Given the description of an element on the screen output the (x, y) to click on. 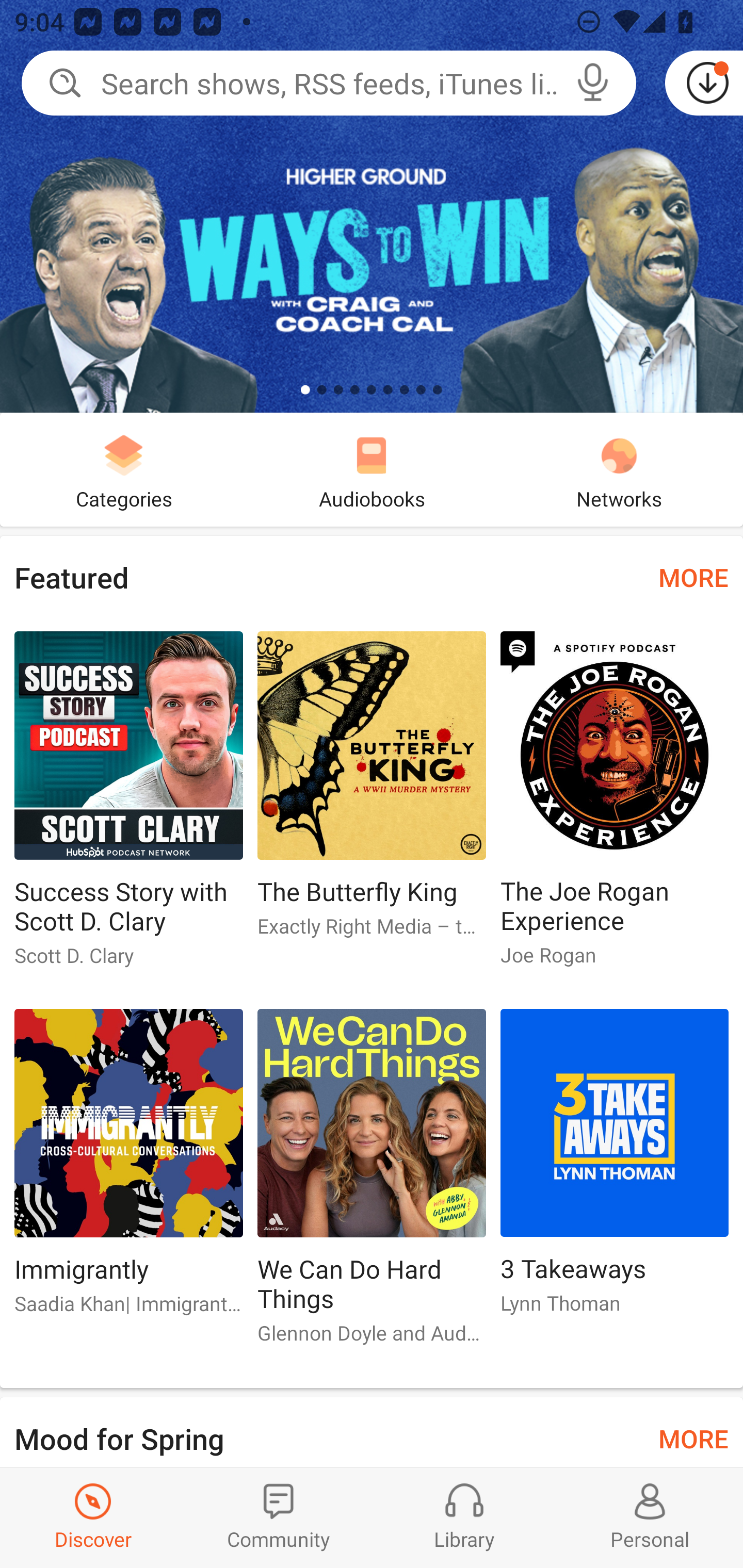
Ways To Win (371, 206)
Categories (123, 469)
Audiobooks (371, 469)
Networks (619, 469)
MORE (693, 576)
3 Takeaways 3 Takeaways Lynn Thoman (614, 1169)
MORE (693, 1436)
Discover (92, 1517)
Community (278, 1517)
Library (464, 1517)
Profiles and Settings Personal (650, 1517)
